Given the description of an element on the screen output the (x, y) to click on. 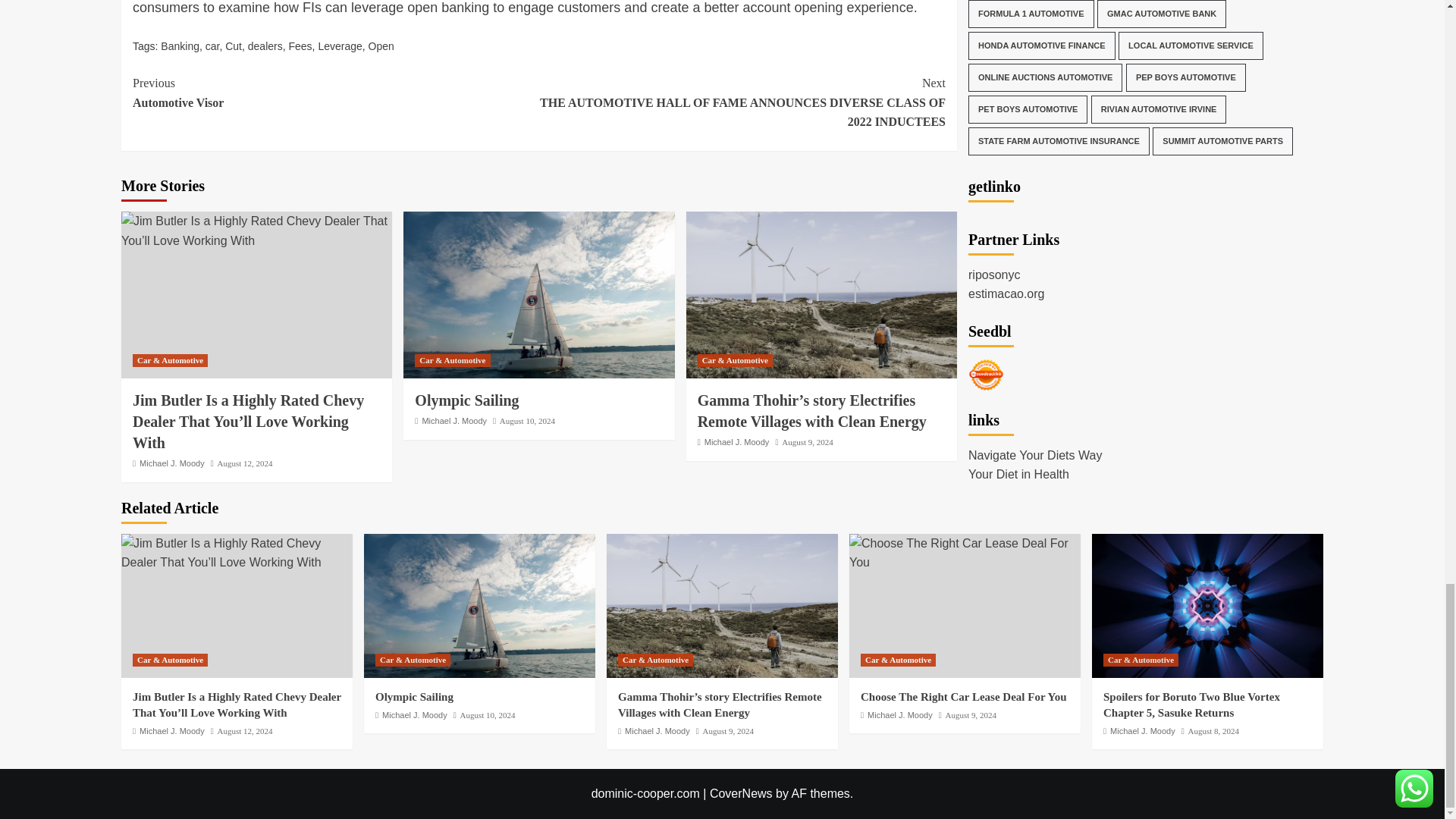
Seedbacklink (986, 13)
dealers (264, 46)
Cut (233, 46)
Banking (179, 46)
car (212, 46)
Fees (299, 46)
Leverage (339, 46)
Open (381, 46)
Michael J. Moody (172, 462)
